Given the description of an element on the screen output the (x, y) to click on. 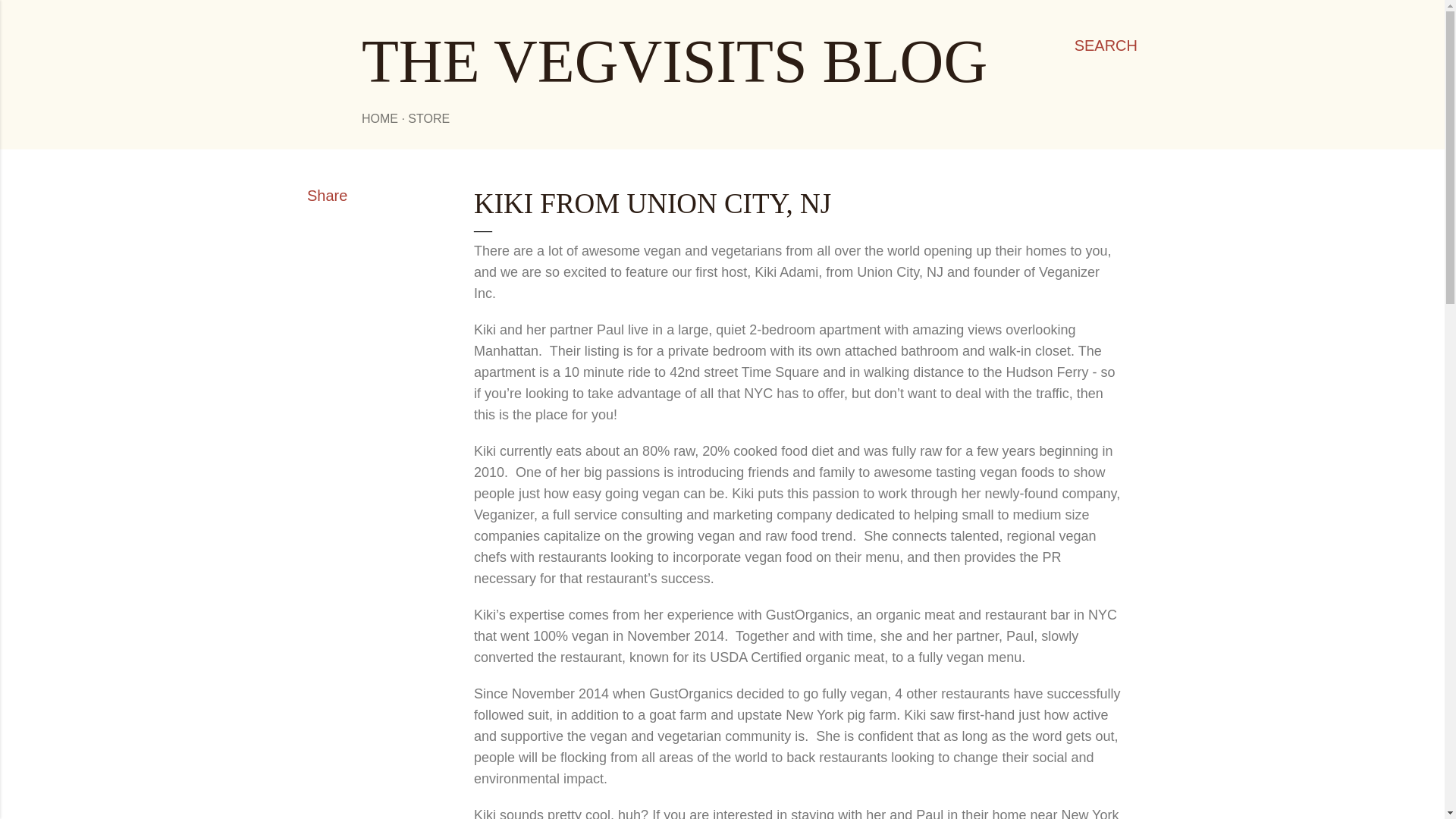
SEARCH (1105, 45)
THE VEGVISITS BLOG (674, 61)
Share (327, 195)
HOME (379, 118)
STORE (428, 118)
